Given the description of an element on the screen output the (x, y) to click on. 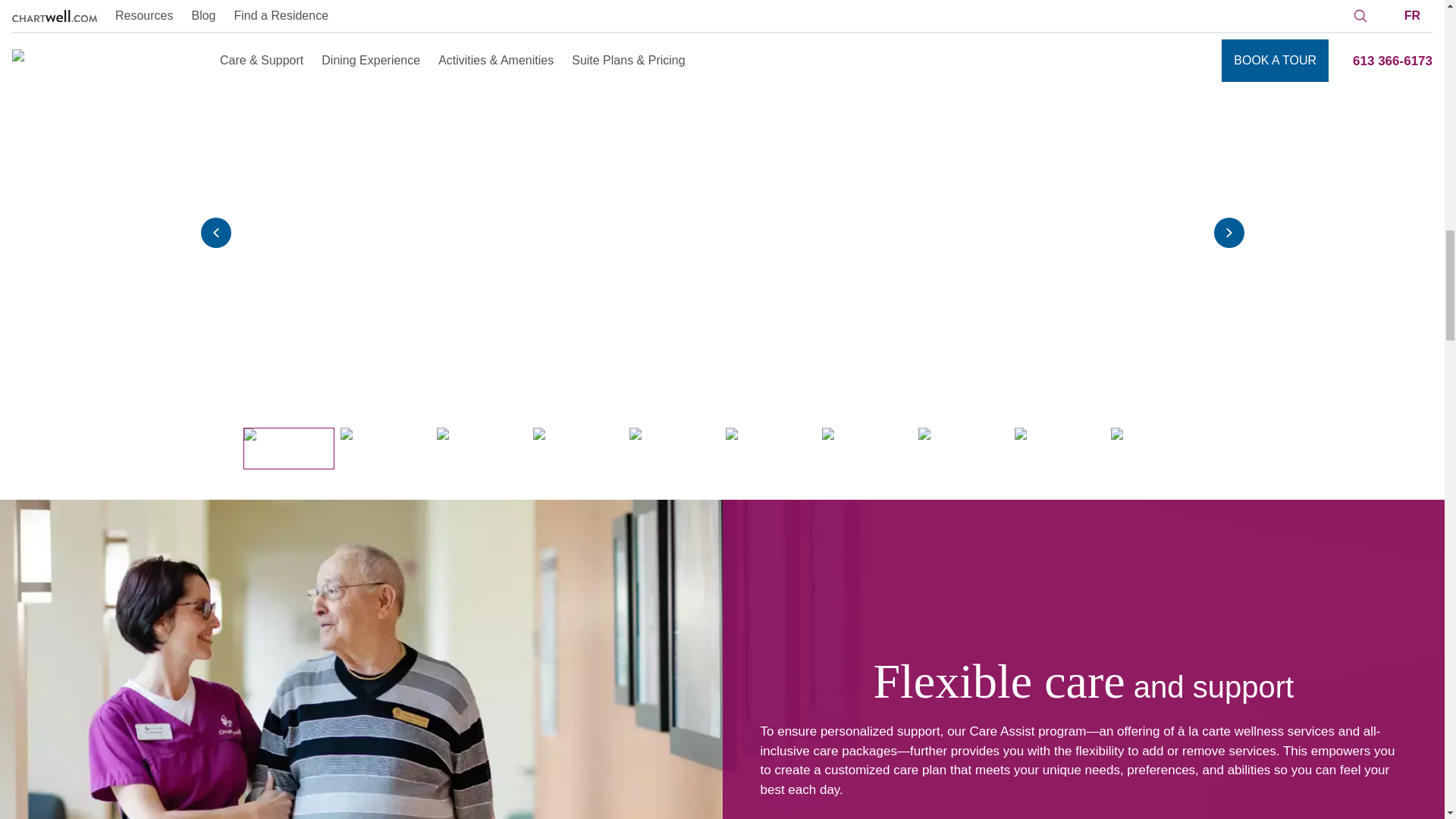
Previous (215, 232)
Next (1227, 232)
